Given the description of an element on the screen output the (x, y) to click on. 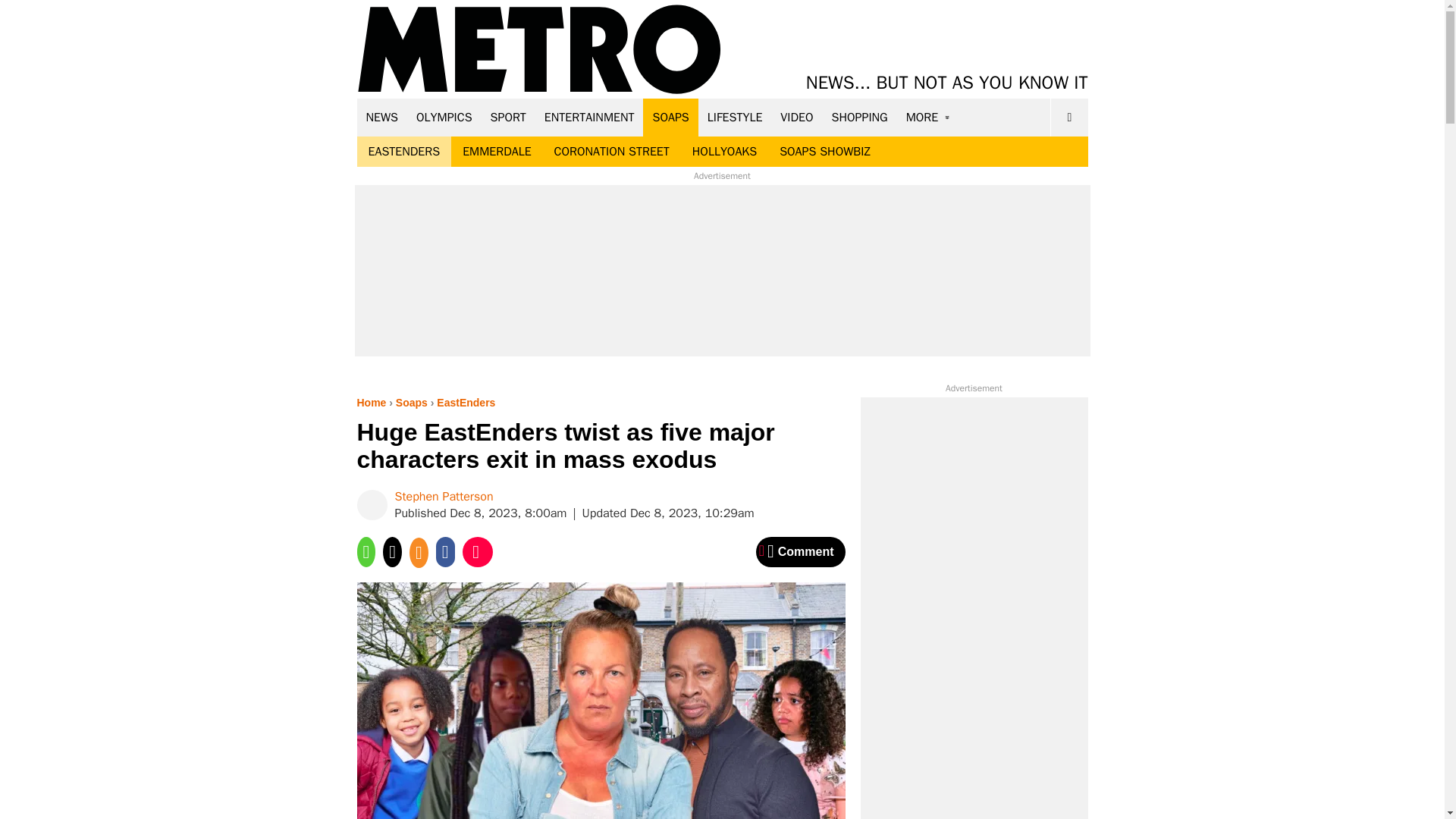
EMMERDALE (496, 151)
HOLLYOAKS (724, 151)
SPORT (508, 117)
SOAPS (670, 117)
OLYMPICS (444, 117)
ENTERTAINMENT (589, 117)
NEWS (381, 117)
SOAPS SHOWBIZ (825, 151)
EASTENDERS (403, 151)
Metro (539, 50)
CORONATION STREET (612, 151)
LIFESTYLE (734, 117)
